Given the description of an element on the screen output the (x, y) to click on. 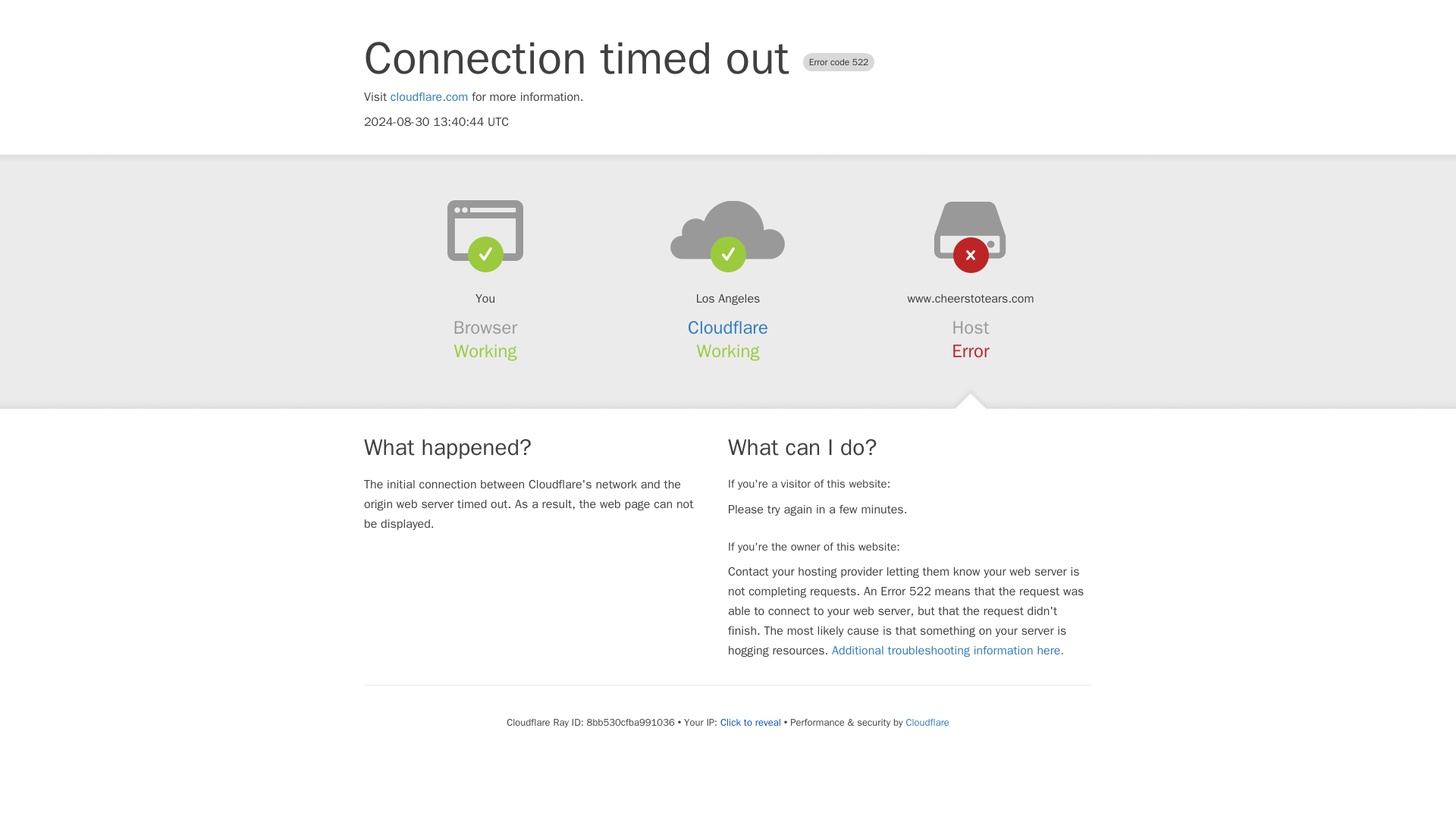
Click to reveal (750, 722)
Cloudflare (727, 327)
cloudflare.com (429, 96)
Additional troubleshooting information here. (947, 650)
Cloudflare (927, 721)
